Given the description of an element on the screen output the (x, y) to click on. 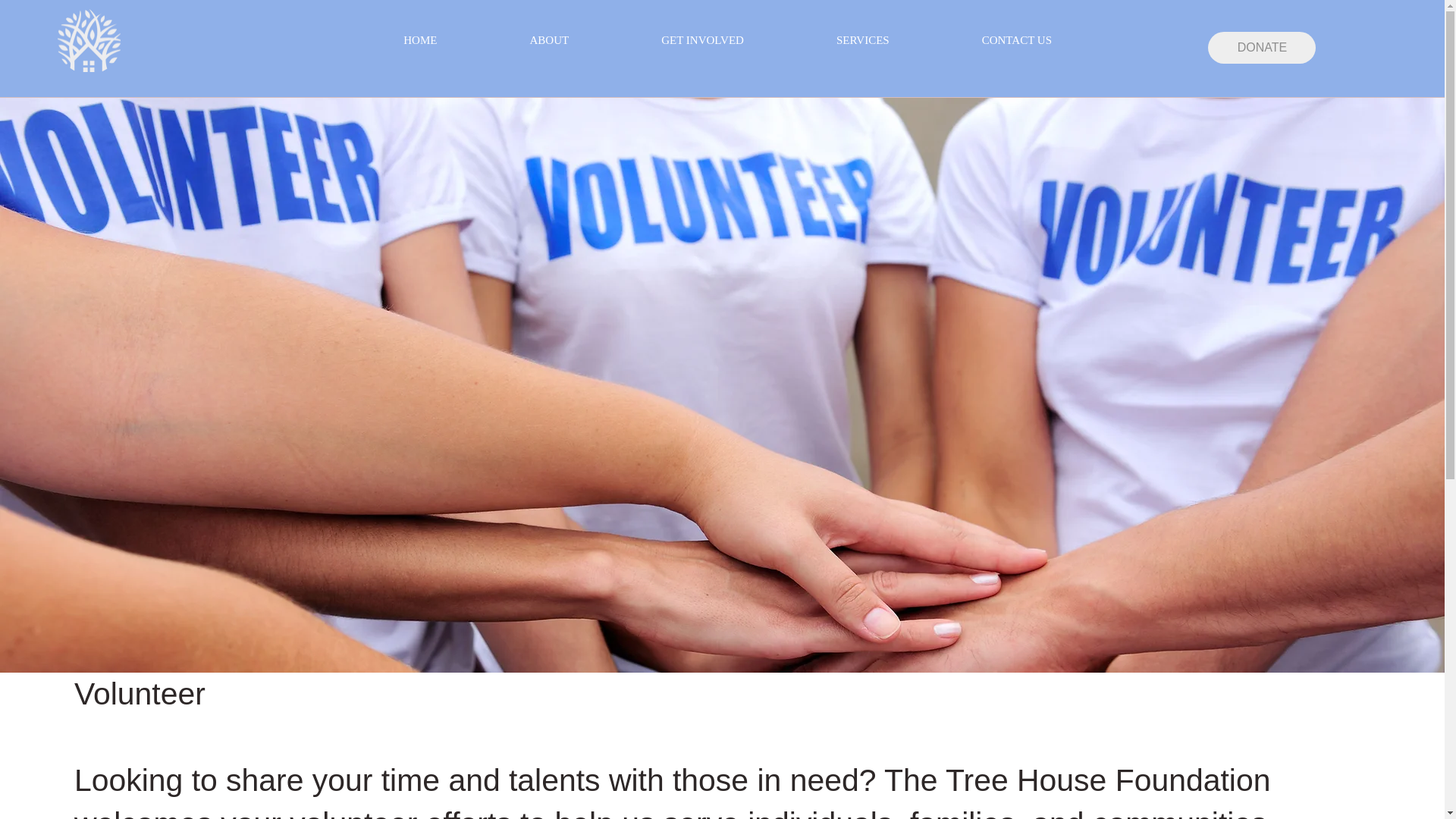
GET INVOLVED (702, 40)
DONATE (1262, 47)
SERVICES (863, 40)
CONTACT US (1016, 40)
HOME (419, 40)
ABOUT (548, 40)
